Given the description of an element on the screen output the (x, y) to click on. 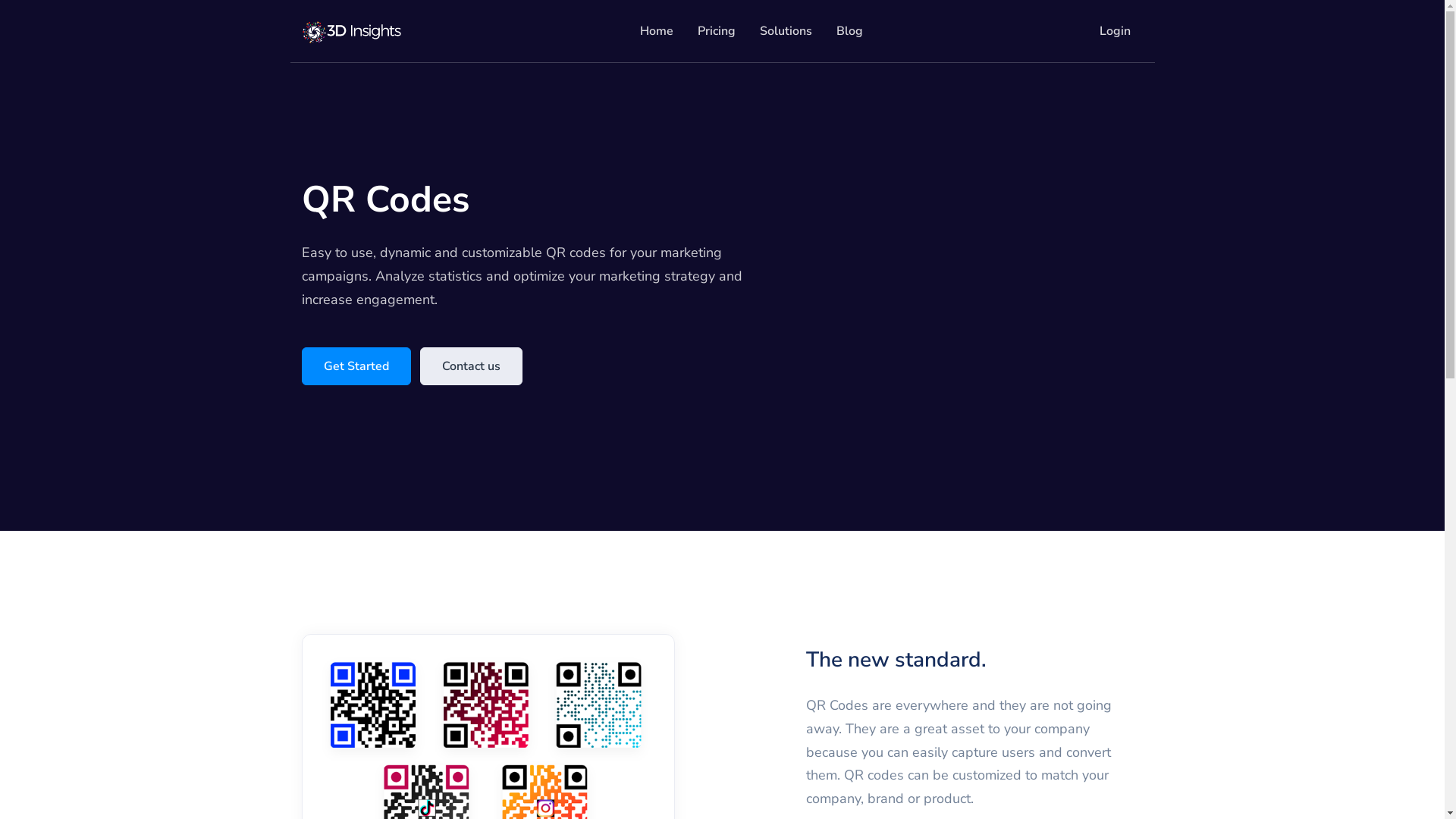
Contact us Element type: text (471, 366)
Home Element type: text (656, 31)
Login Element type: text (1114, 31)
Blog Element type: text (849, 31)
Get Started Element type: text (356, 366)
Solutions Element type: text (785, 31)
Pricing Element type: text (716, 31)
